Given the description of an element on the screen output the (x, y) to click on. 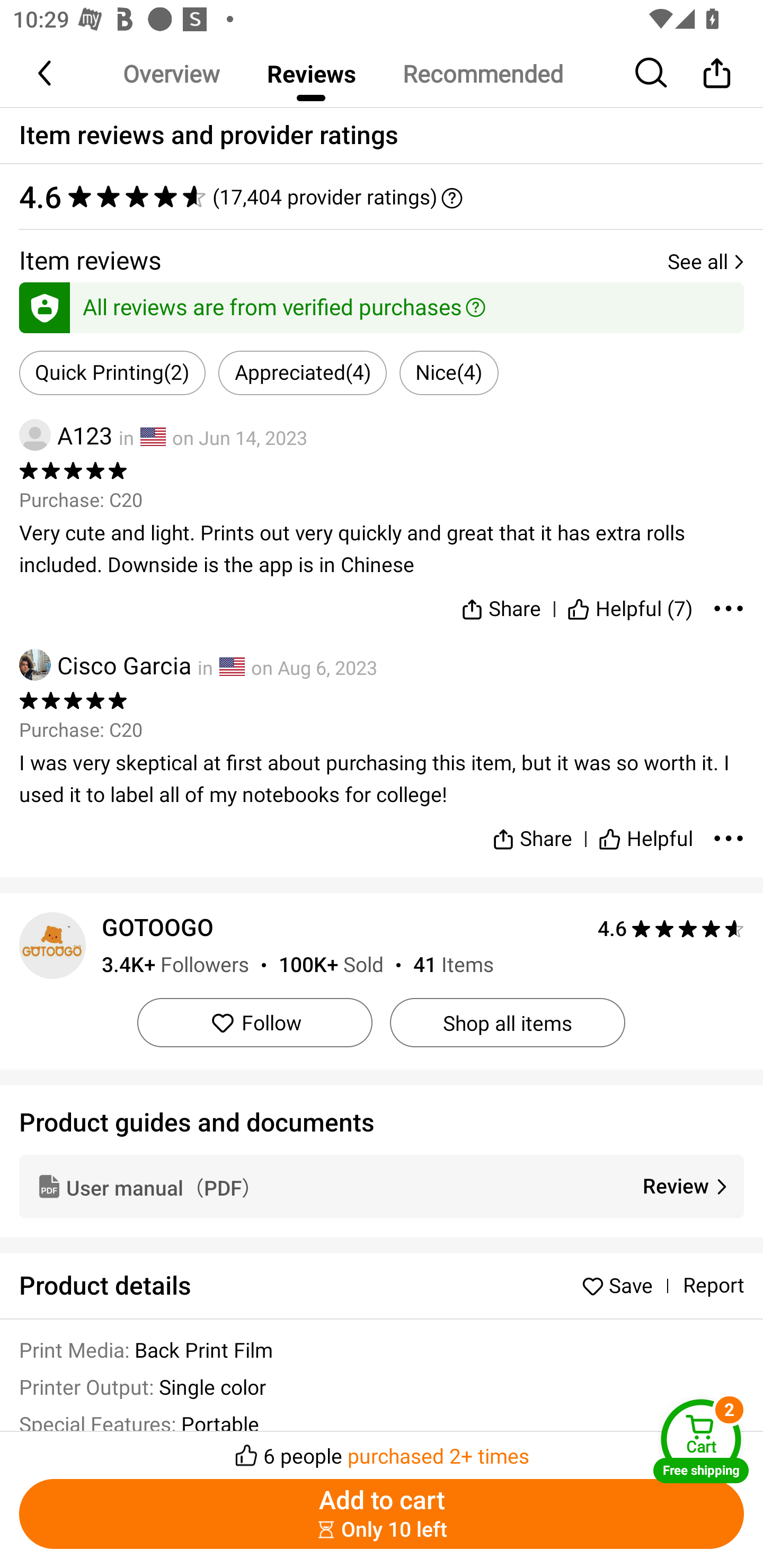
Overview (171, 72)
Reviews (311, 72)
Recommended (482, 72)
Back (46, 72)
Share (716, 72)
4.6 ‪(17,404 provider ratings) (381, 196)
All reviews are from verified purchases  (381, 303)
Quick Printing(2) (112, 373)
Appreciated(4) (302, 373)
Nice(4) (448, 373)
A123 (65, 434)
  Share (500, 605)
  Helpful (7) (629, 605)
Cisco Garcia (105, 664)
  Share (532, 830)
  Helpful (645, 830)
  Follow (254, 1022)
Shop all items (506, 1022)
User manual（PDF） Review (381, 1186)
Report (712, 1285)
 Save (621, 1285)
Cart Free shipping Cart (701, 1440)
￼￼6 people purchased 2+ times (381, 1450)
Add to cart ￼￼Only 10 left (381, 1513)
